Given the description of an element on the screen output the (x, y) to click on. 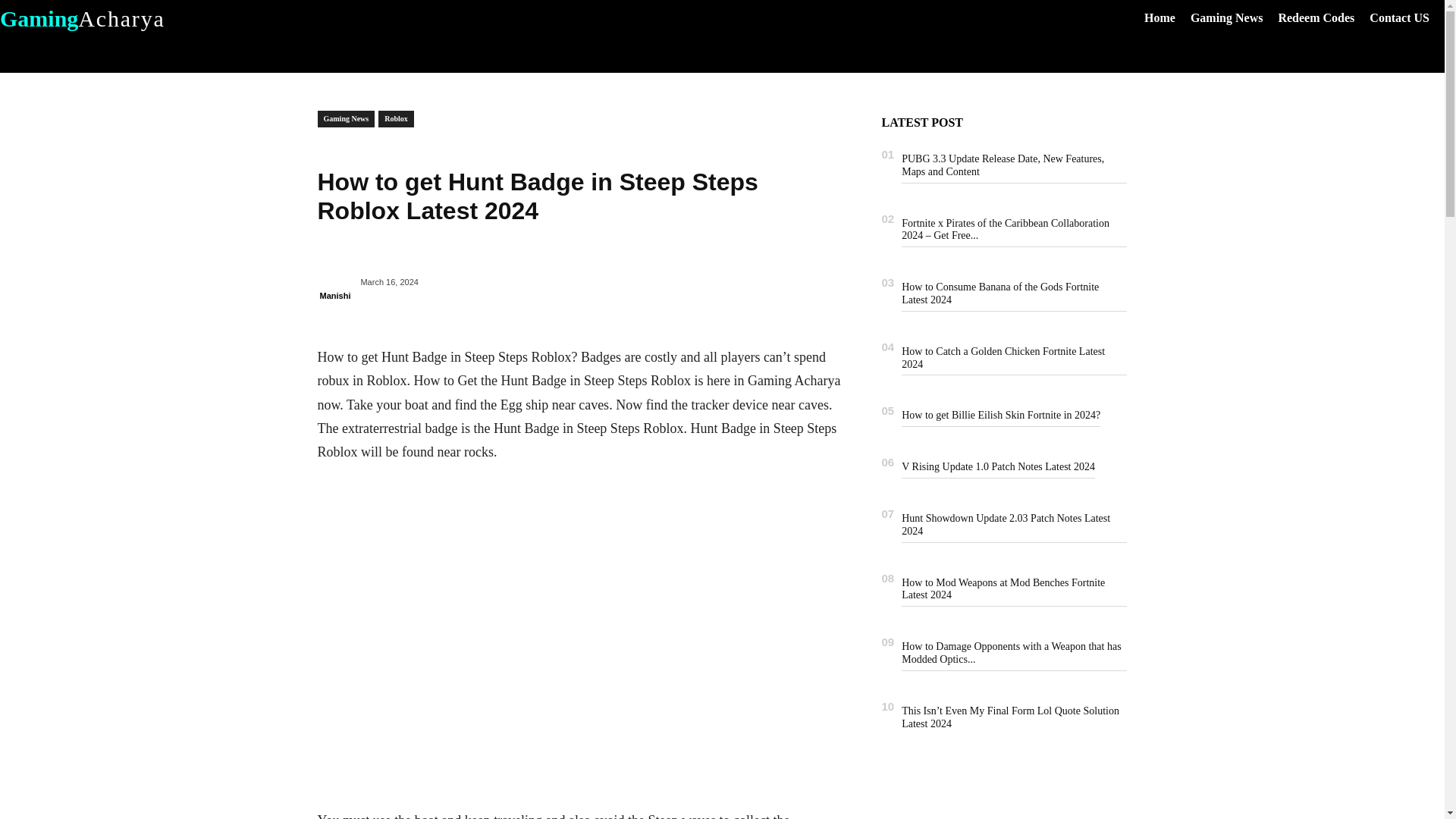
V Rising Update 1.0 Patch Notes Latest 2024 (997, 466)
GamingAcharya (166, 18)
How to get Billie Eilish Skin Fortnite in 2024? (1000, 414)
Redeem Codes (1324, 18)
Gaming News (1234, 18)
Gaming News (1234, 18)
PUBG 3.3 Update Release Date, New Features, Maps and Content (1002, 165)
PUBG 3.3 Update Release Date, New Features, Maps and Content (1002, 165)
Redeem Codes (1324, 18)
Home (1167, 18)
Gaming News (345, 118)
How to Mod Weapons at Mod Benches Fortnite Latest 2024 (1003, 589)
How to Consume Banana of the Gods Fortnite Latest 2024 (1000, 293)
How to Catch a Golden Chicken Fortnite Latest 2024 (1003, 357)
